Given the description of an element on the screen output the (x, y) to click on. 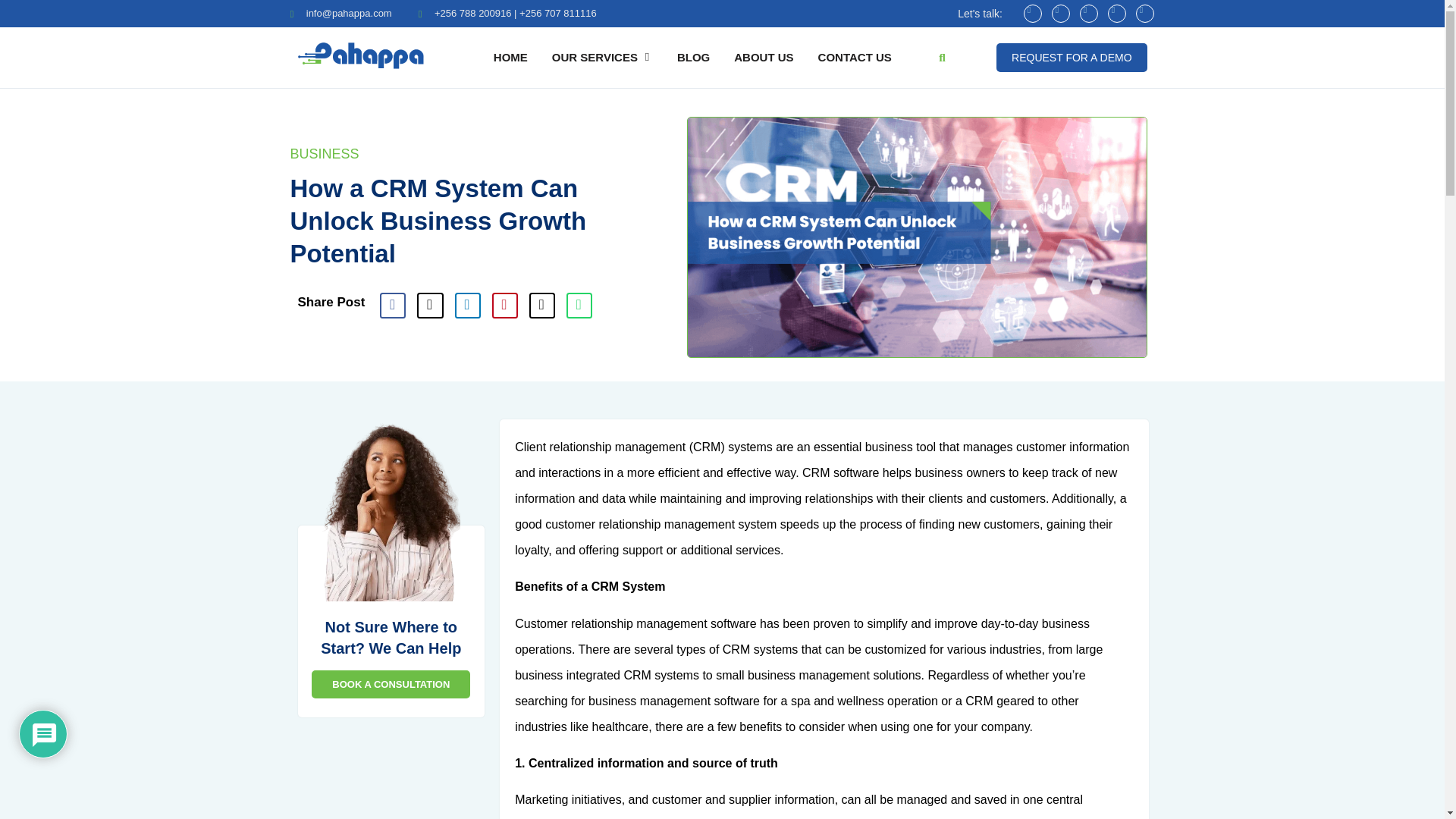
CONTACT US (854, 57)
HOME (510, 57)
REQUEST FOR A DEMO (1071, 57)
ABOUT US (763, 57)
BLOG (693, 57)
